Given the description of an element on the screen output the (x, y) to click on. 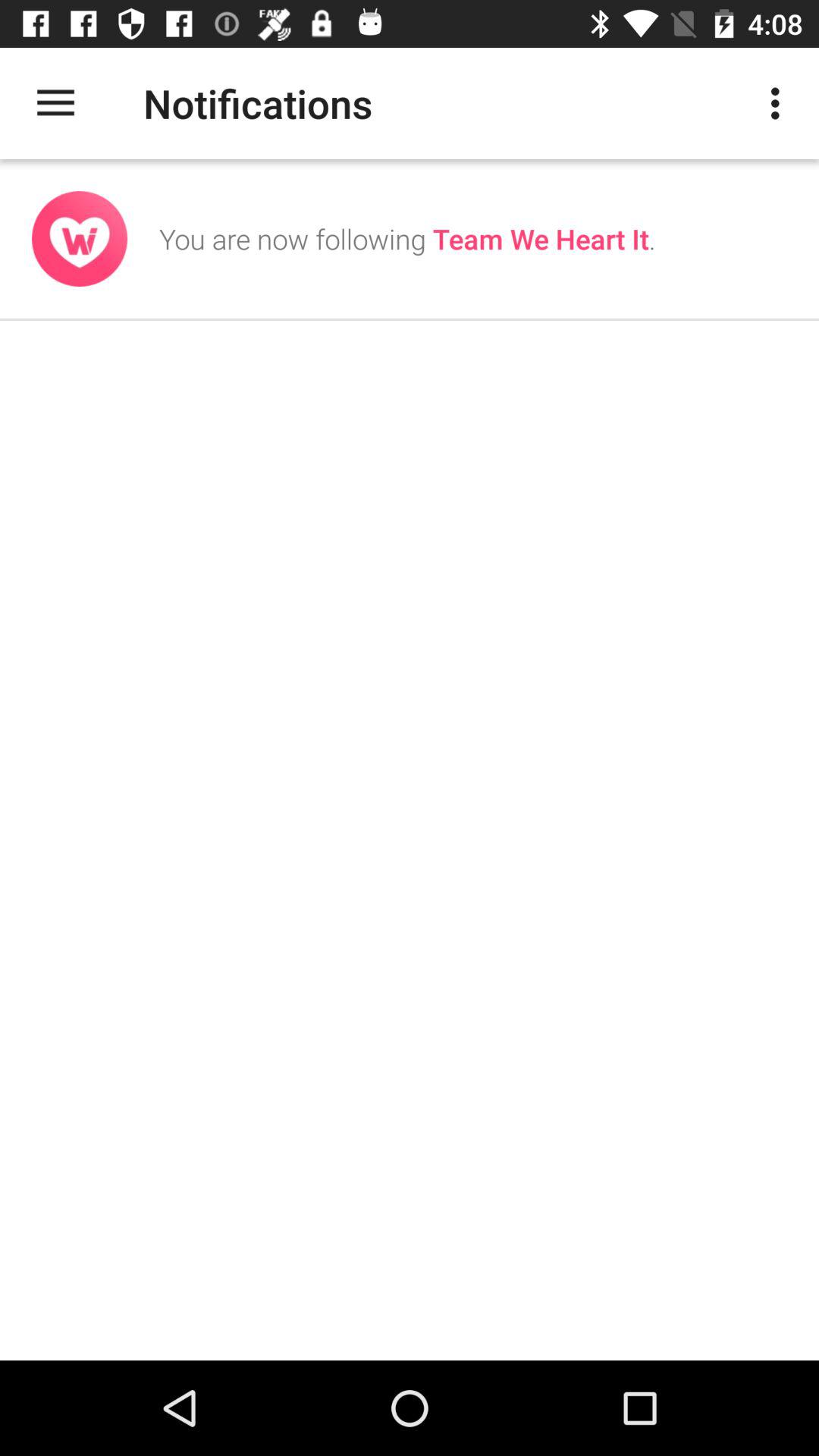
open icon next to notifications icon (55, 103)
